Given the description of an element on the screen output the (x, y) to click on. 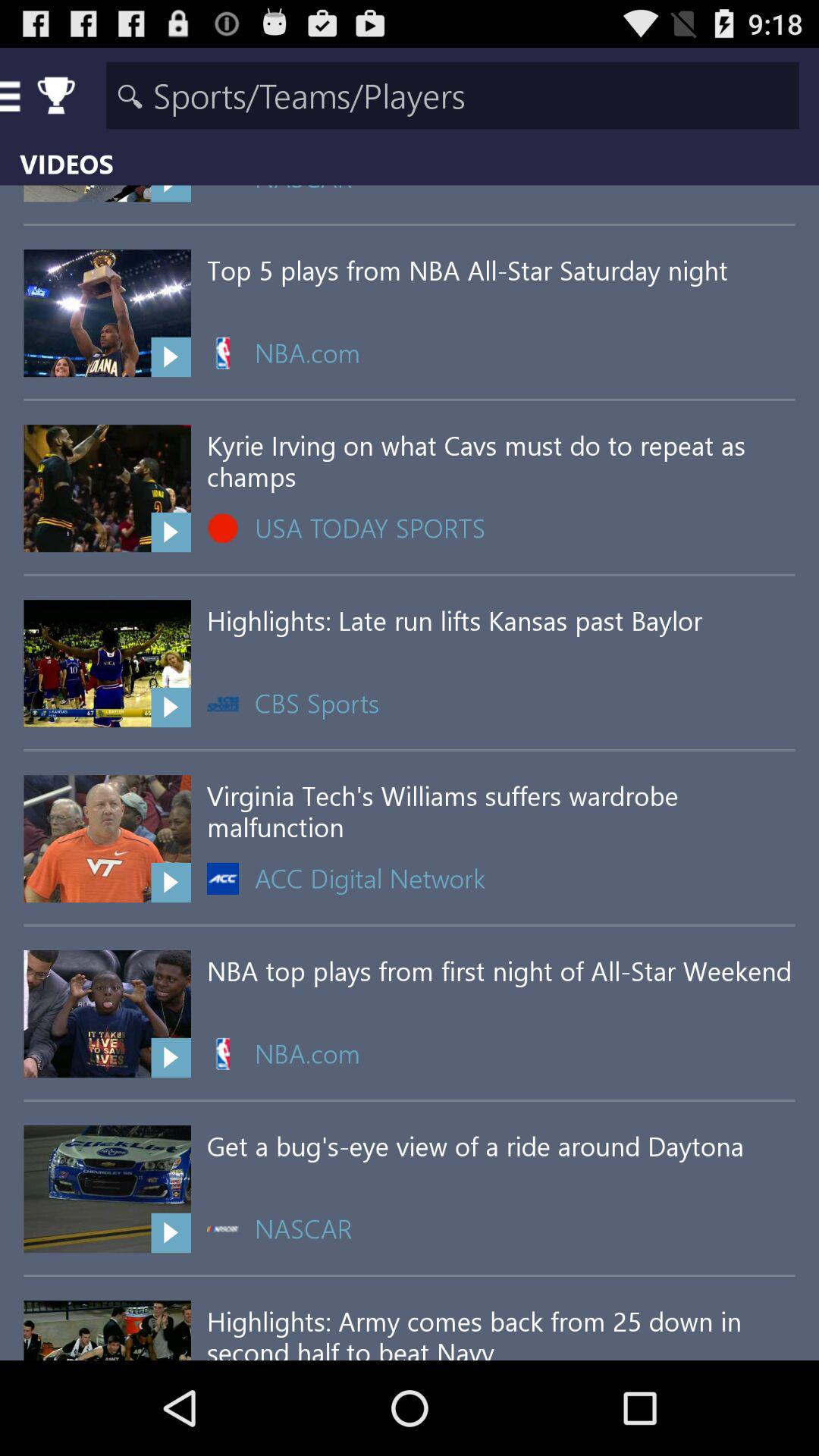
launch item above the videos item (452, 95)
